Given the description of an element on the screen output the (x, y) to click on. 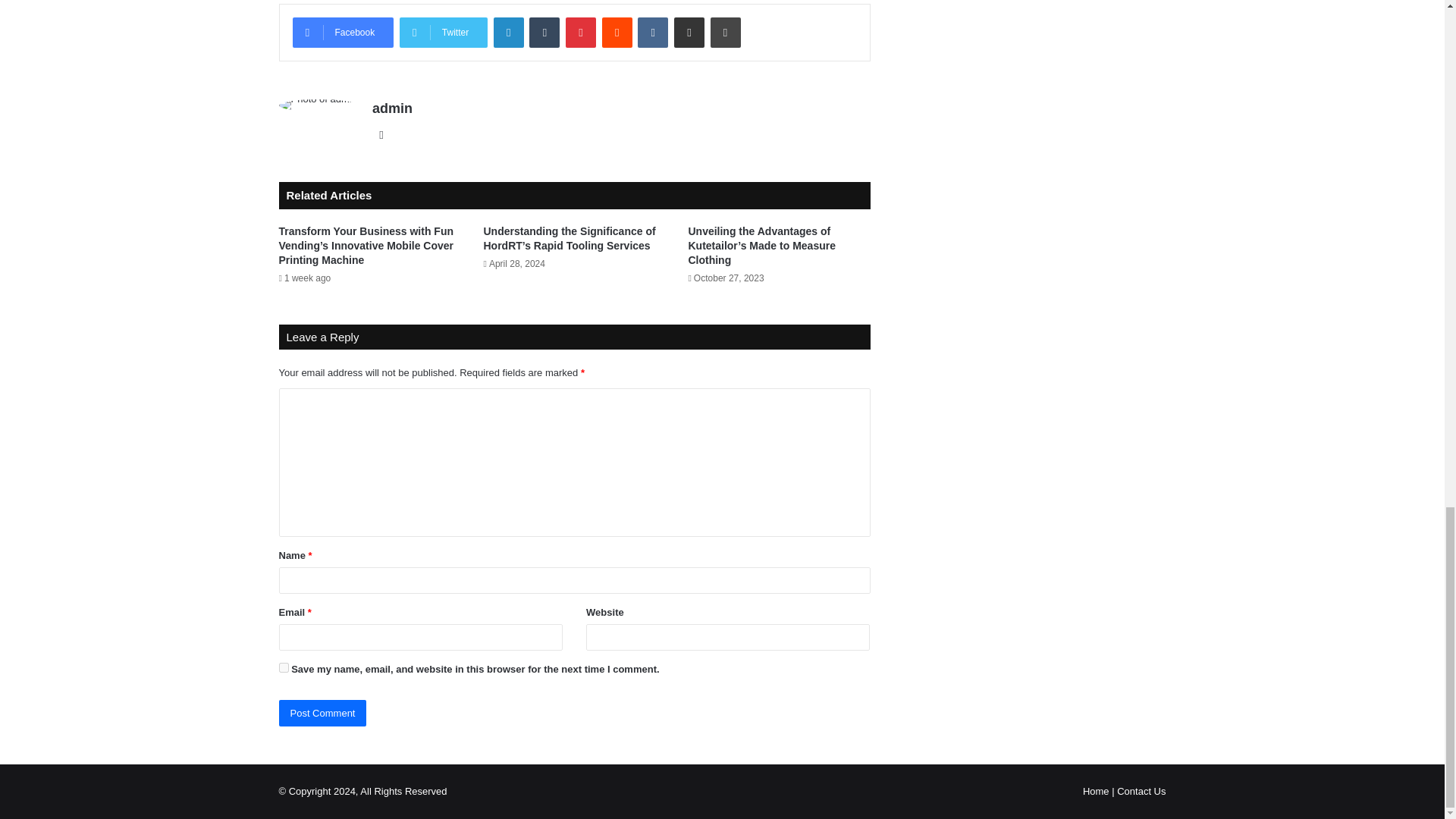
LinkedIn (508, 32)
LinkedIn (508, 32)
Print (725, 32)
Pinterest (580, 32)
Twitter (442, 32)
Share via Email (689, 32)
Tumblr (544, 32)
Post Comment (322, 713)
Reddit (616, 32)
Website (381, 135)
